Given the description of an element on the screen output the (x, y) to click on. 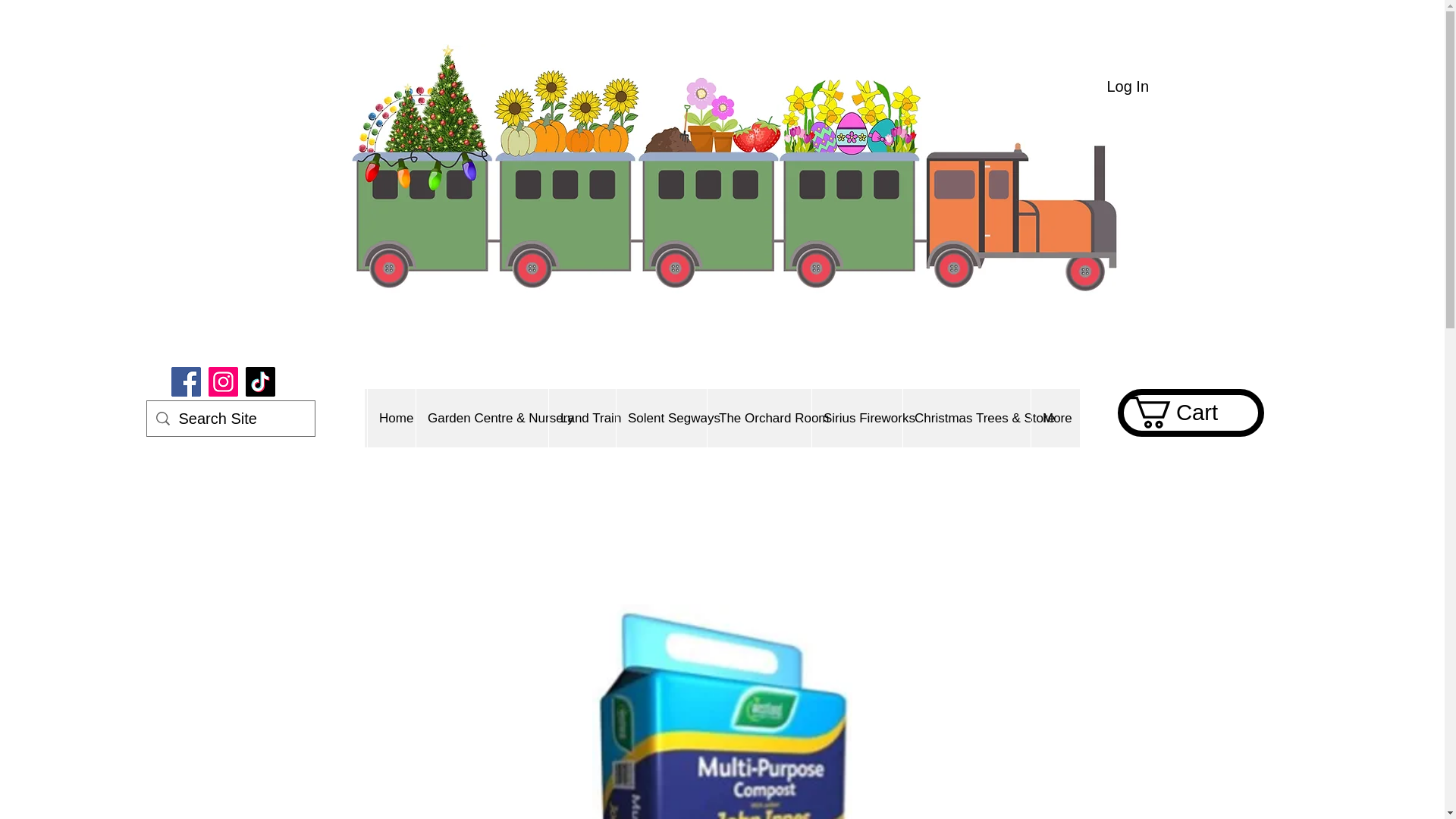
Sirius Fireworks (856, 418)
Log In (1127, 86)
Cart (1189, 412)
Land Train (581, 418)
Solent Segways (660, 418)
Cart (1189, 412)
The Orchard Room (758, 418)
